Given the description of an element on the screen output the (x, y) to click on. 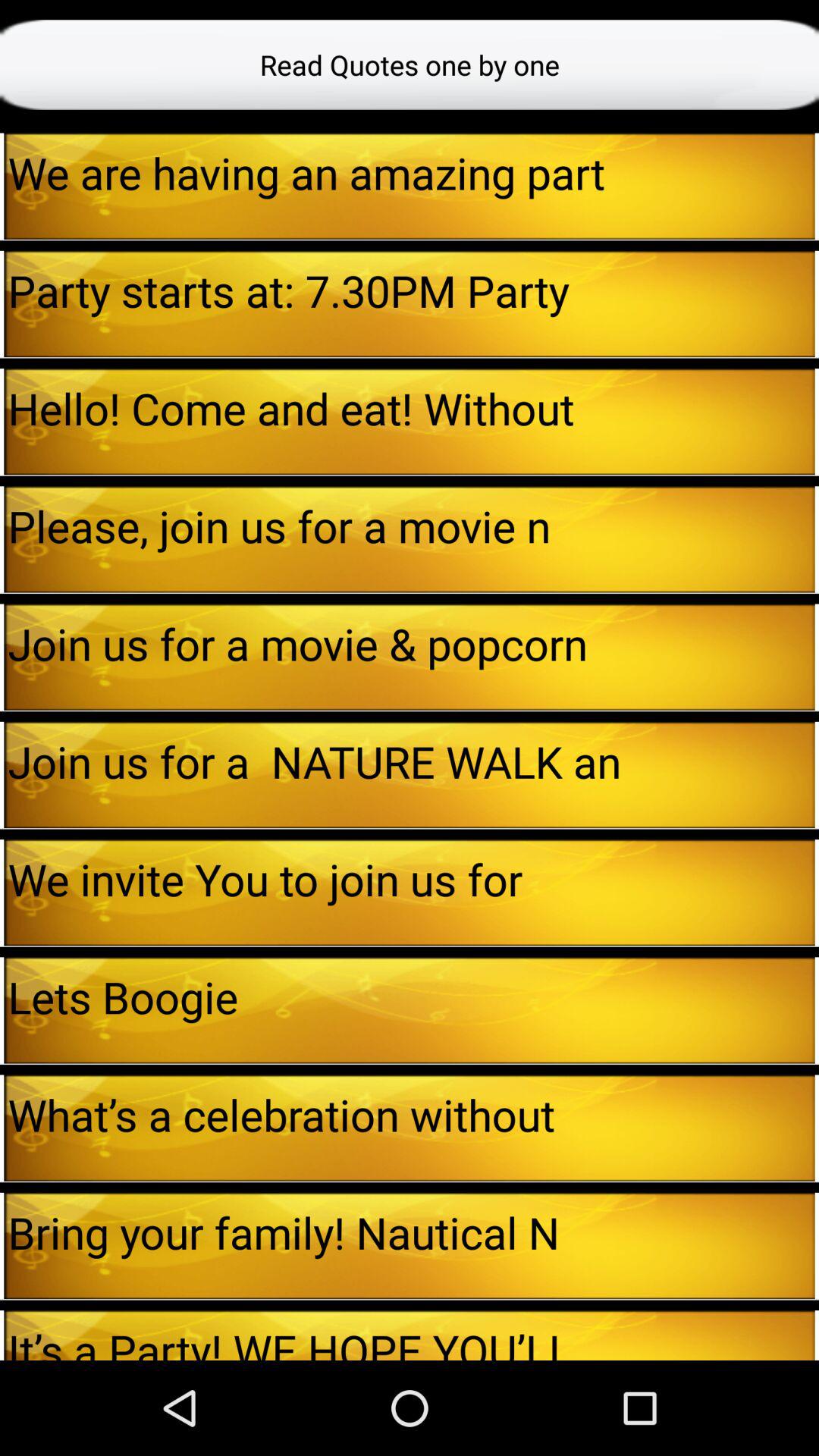
turn on item to the left of party starts at icon (1, 303)
